Given the description of an element on the screen output the (x, y) to click on. 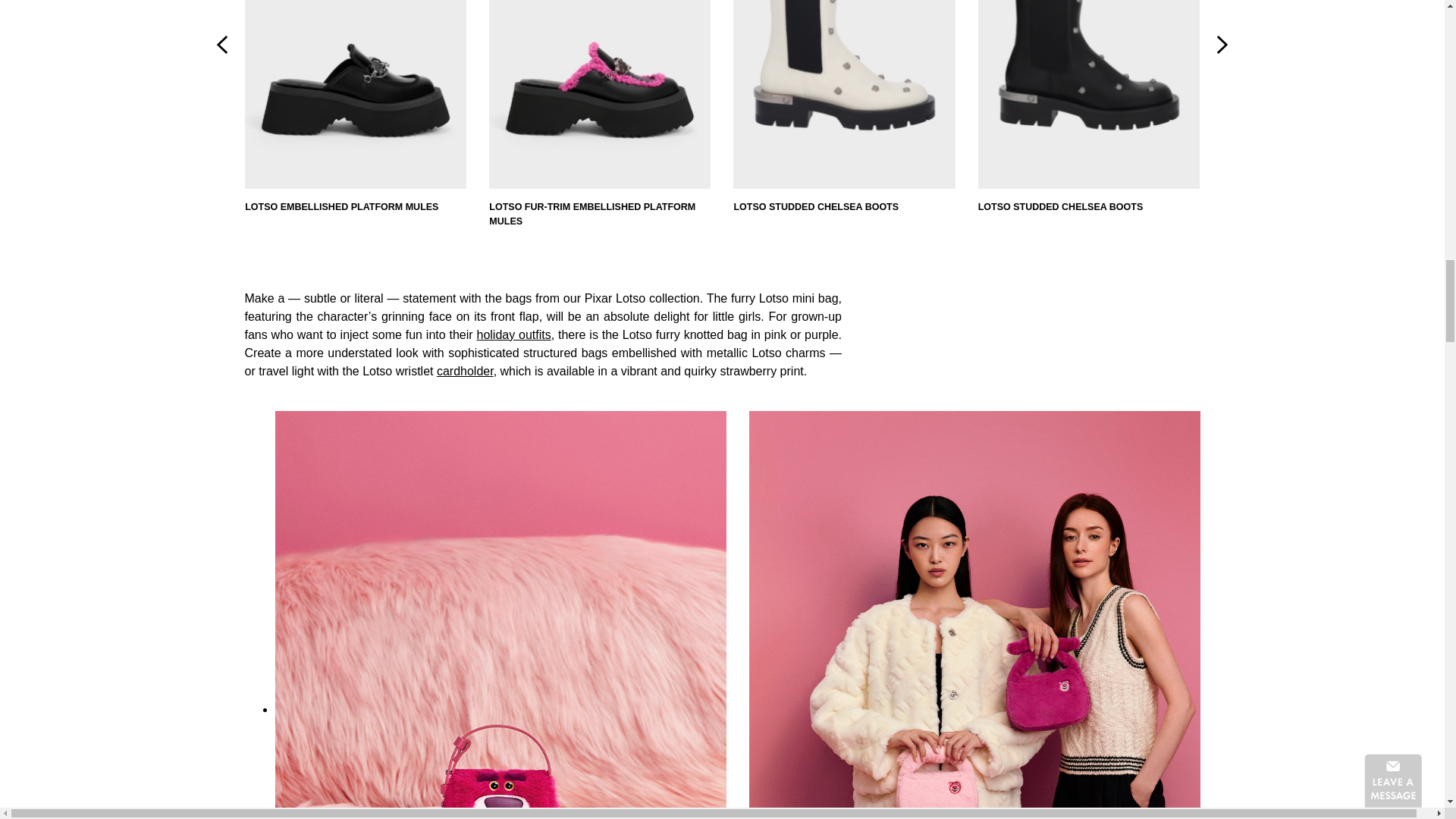
Lotso Fur-Trim Embellished Platform Mules (599, 114)
Lotso Embellished Platform Mules (354, 107)
